Given the description of an element on the screen output the (x, y) to click on. 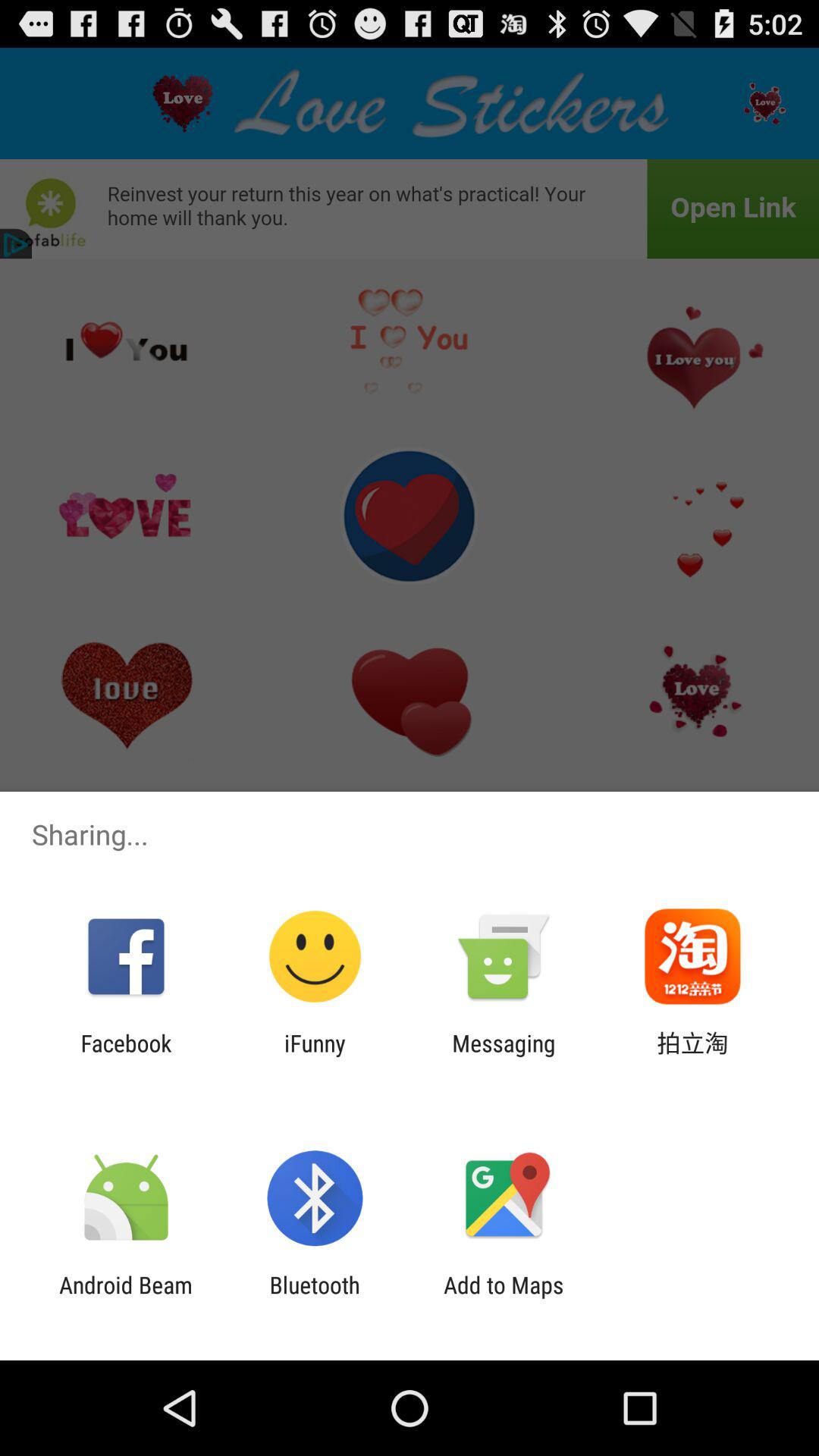
click the ifunny (314, 1056)
